Given the description of an element on the screen output the (x, y) to click on. 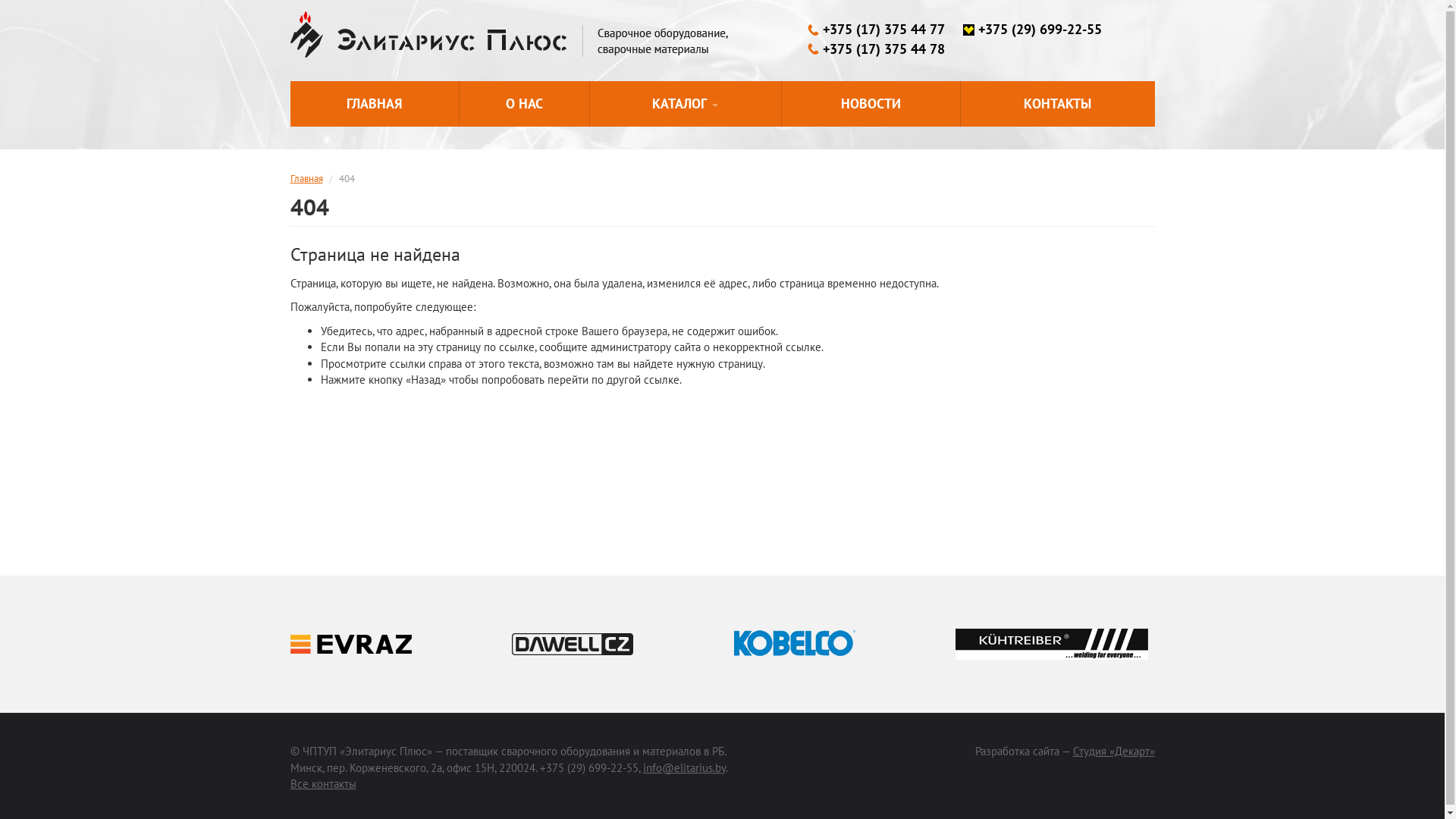
+375 (29) 699-22-55 Element type: text (1032, 29)
info@elitarius.by Element type: text (684, 767)
+375 (17) 375 44 77 Element type: text (875, 29)
+375 (17) 375 44 78 Element type: text (875, 49)
